Given the description of an element on the screen output the (x, y) to click on. 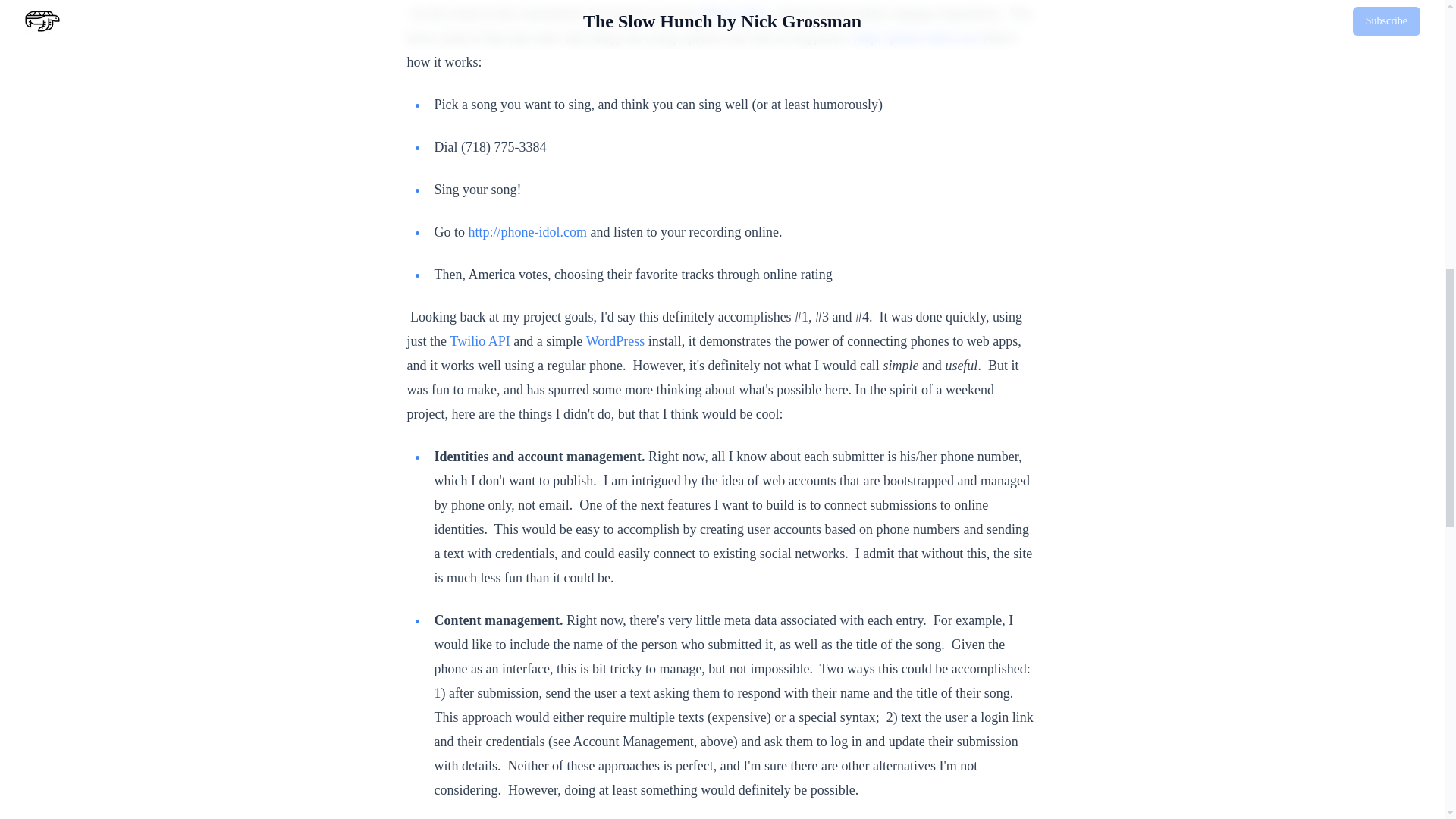
WordPress (615, 340)
Twilio API (480, 340)
Phone Idol (733, 13)
